Given the description of an element on the screen output the (x, y) to click on. 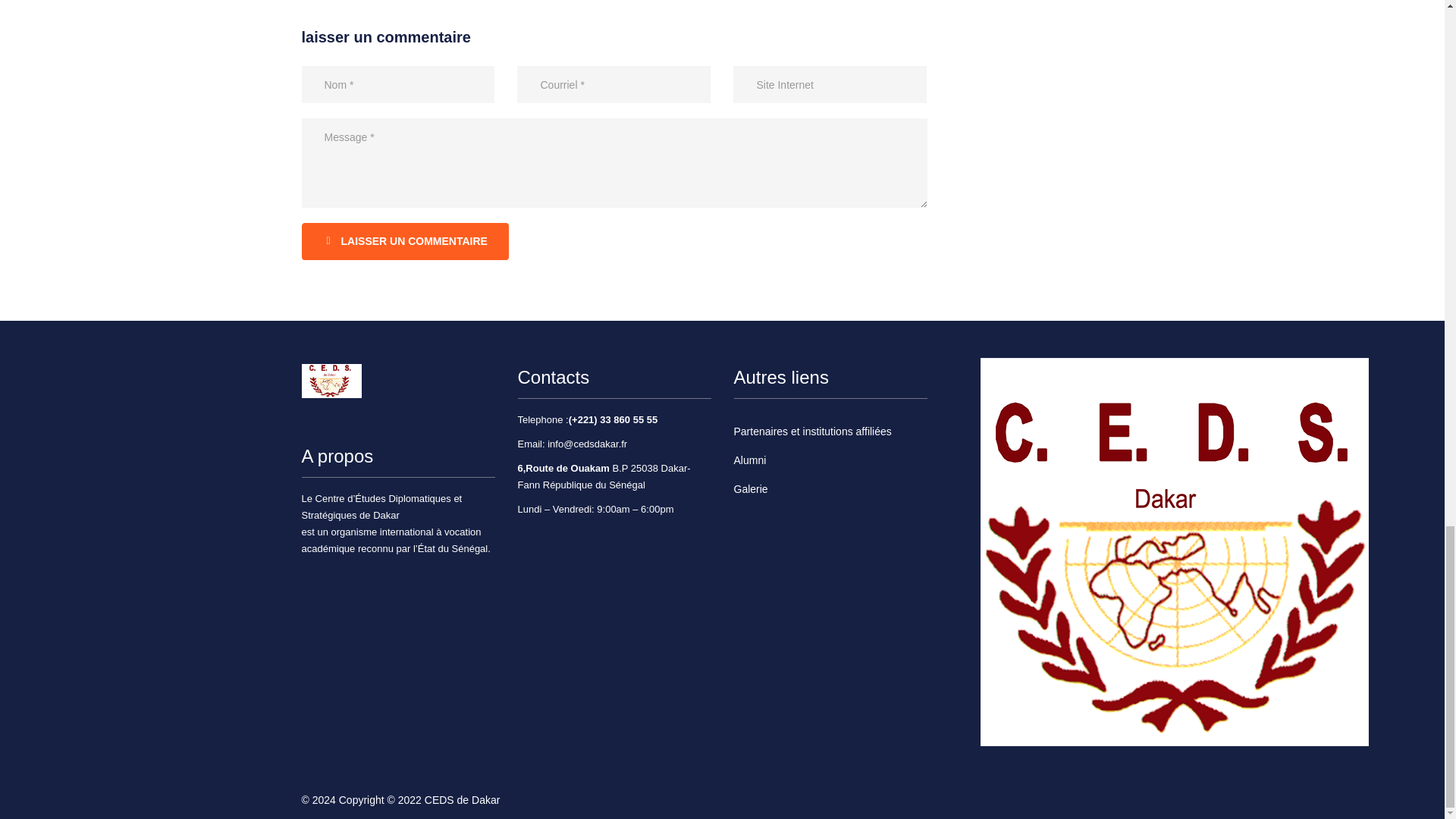
Galerie (750, 489)
LAISSER UN COMMENTAIRE (404, 241)
Alumni (750, 460)
